Given the description of an element on the screen output the (x, y) to click on. 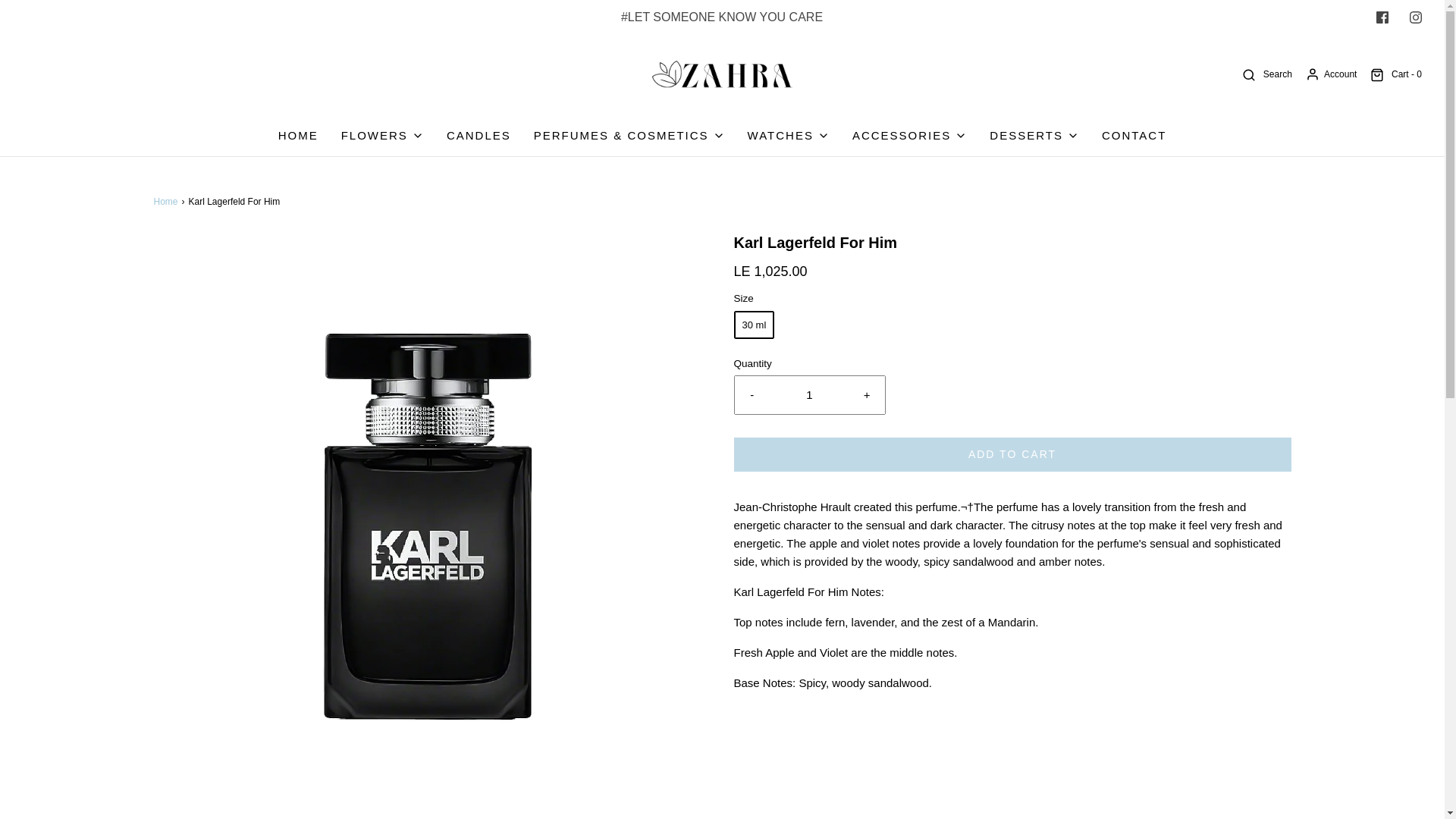
Cart (1395, 74)
Search (1266, 74)
1 (809, 394)
Log in (1329, 74)
Back to the frontpage (166, 201)
